Given the description of an element on the screen output the (x, y) to click on. 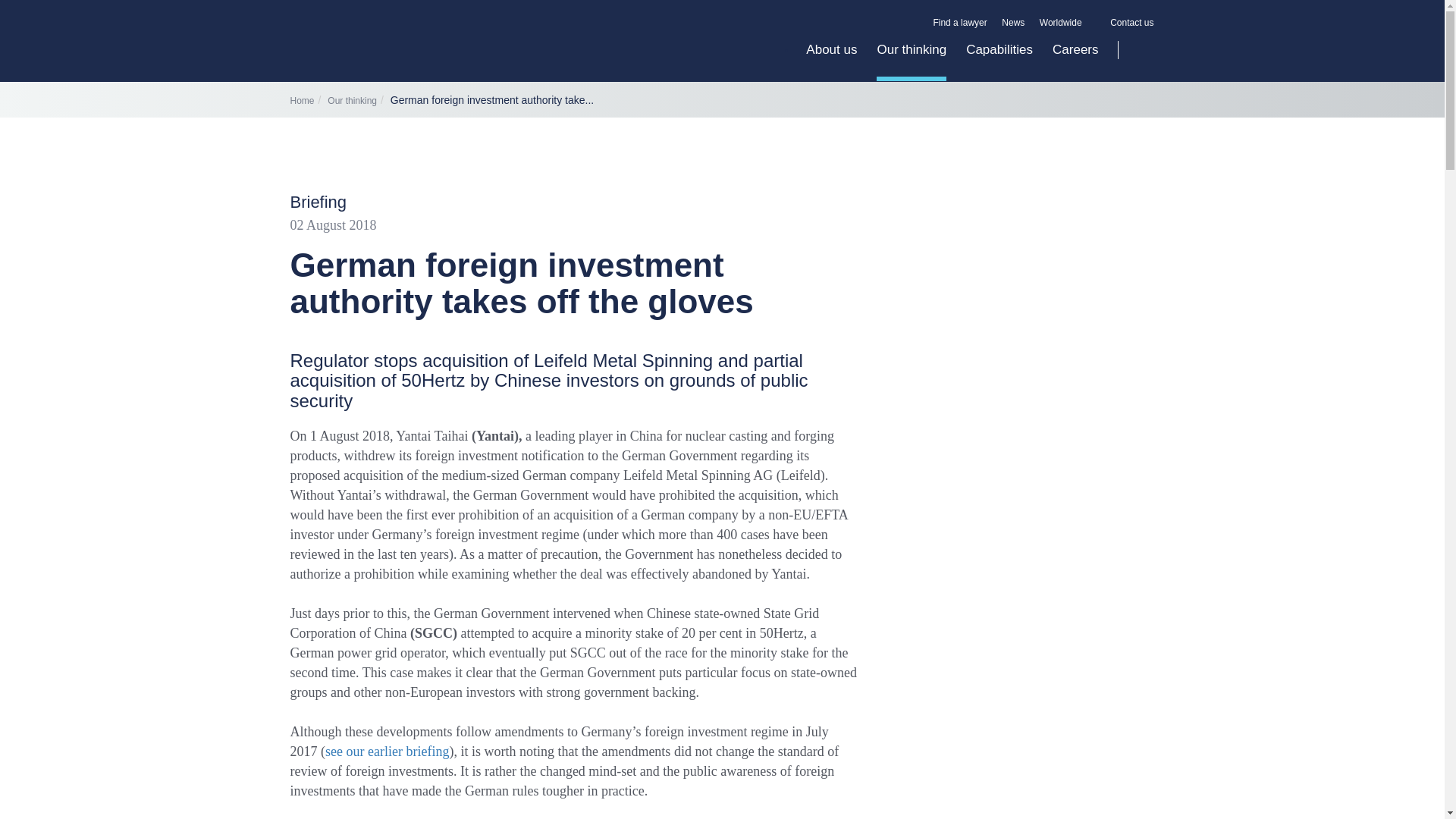
Our thinking (911, 61)
News (1013, 22)
Search (1136, 49)
Home (301, 100)
Careers (1069, 61)
Freshfields Bruckhaus Deringer (423, 56)
Find a lawyer (960, 22)
About us (831, 61)
Capabilities (999, 61)
Worldwide (1067, 22)
